Given the description of an element on the screen output the (x, y) to click on. 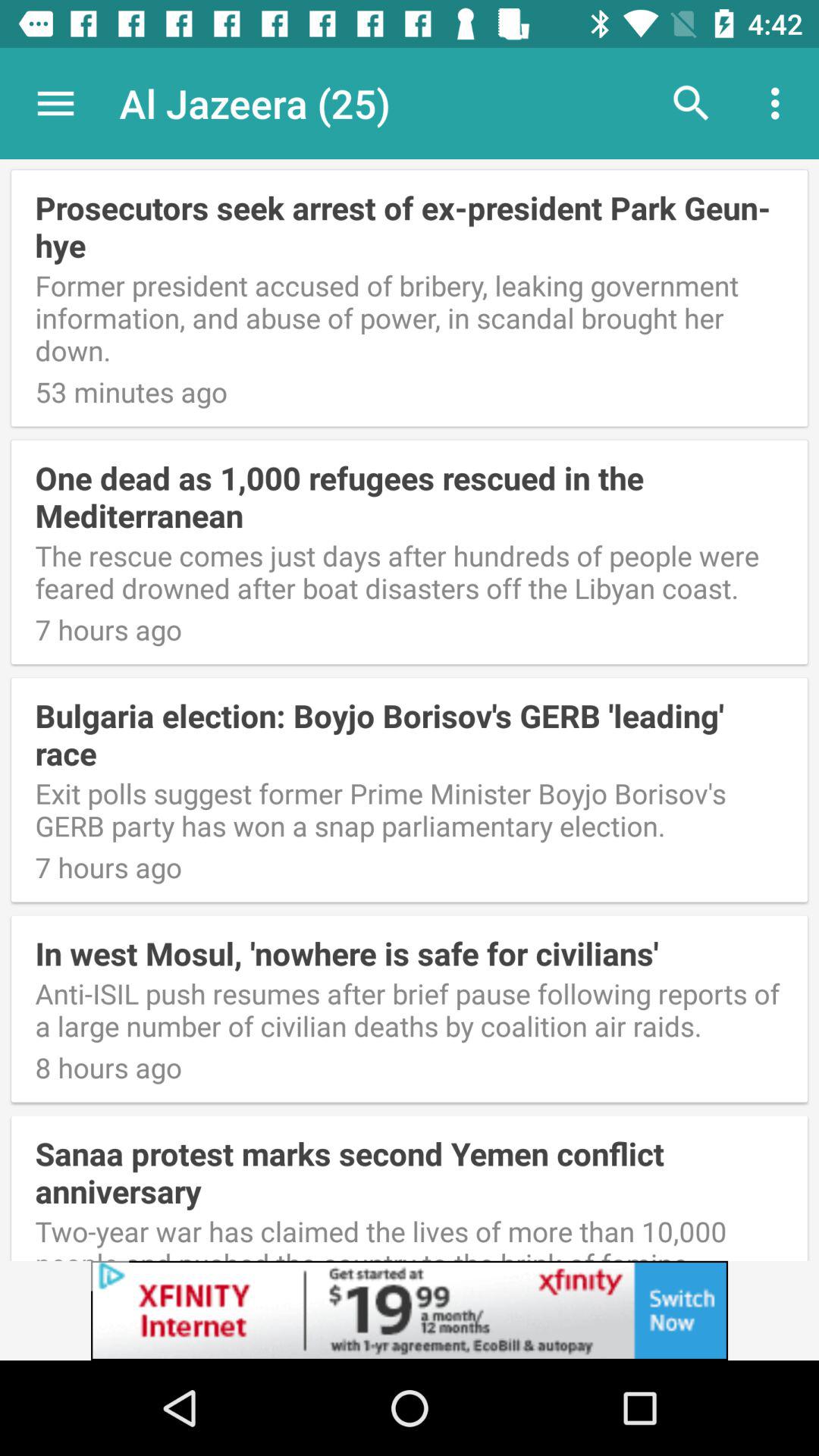
tap the app above the prosecutors seek arrest item (409, 105)
